Given the description of an element on the screen output the (x, y) to click on. 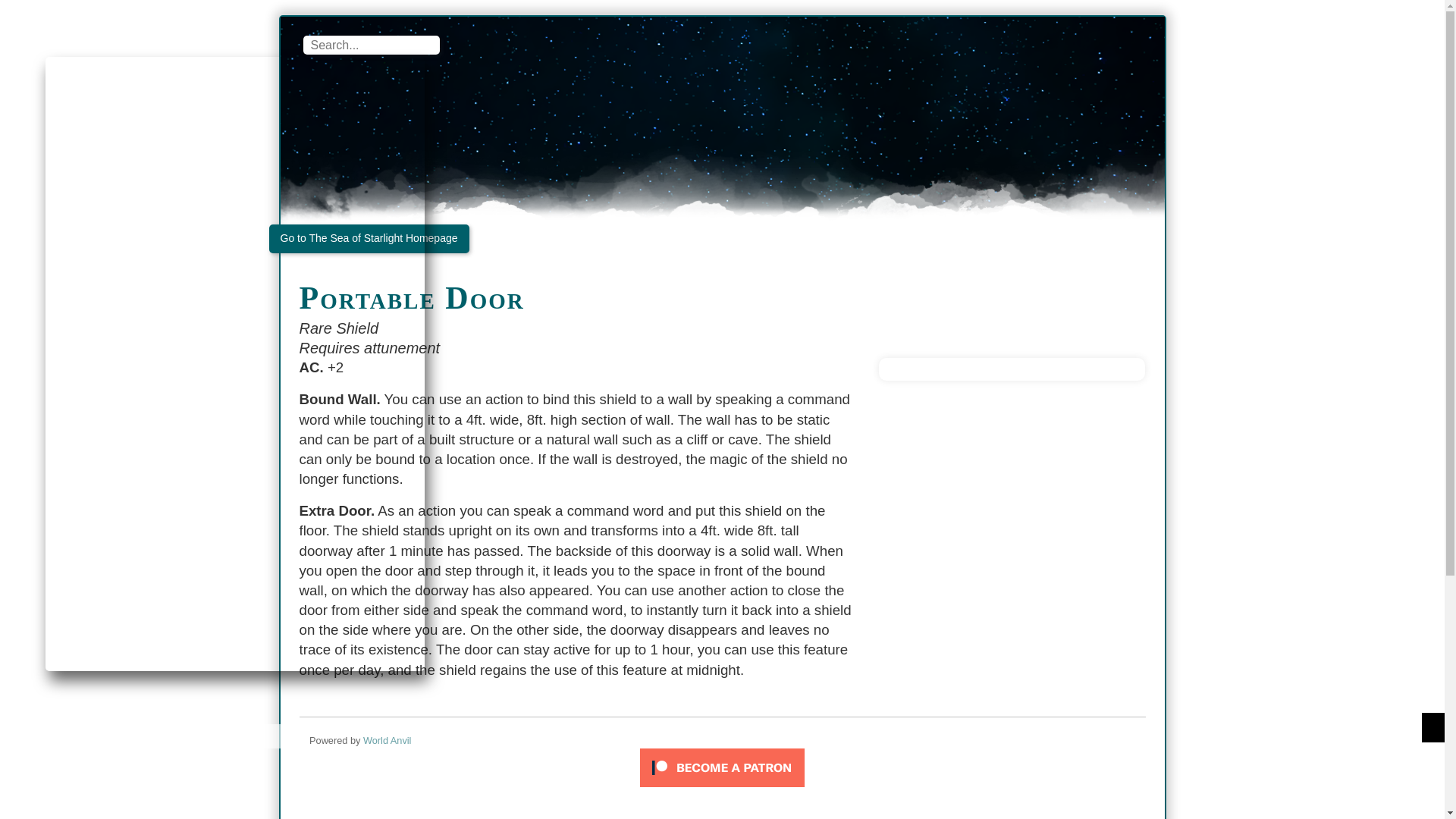
Support Bonus Action on Patreon (722, 767)
World Anvil (387, 740)
Go to The Sea of Starlight Homepage (367, 238)
